Given the description of an element on the screen output the (x, y) to click on. 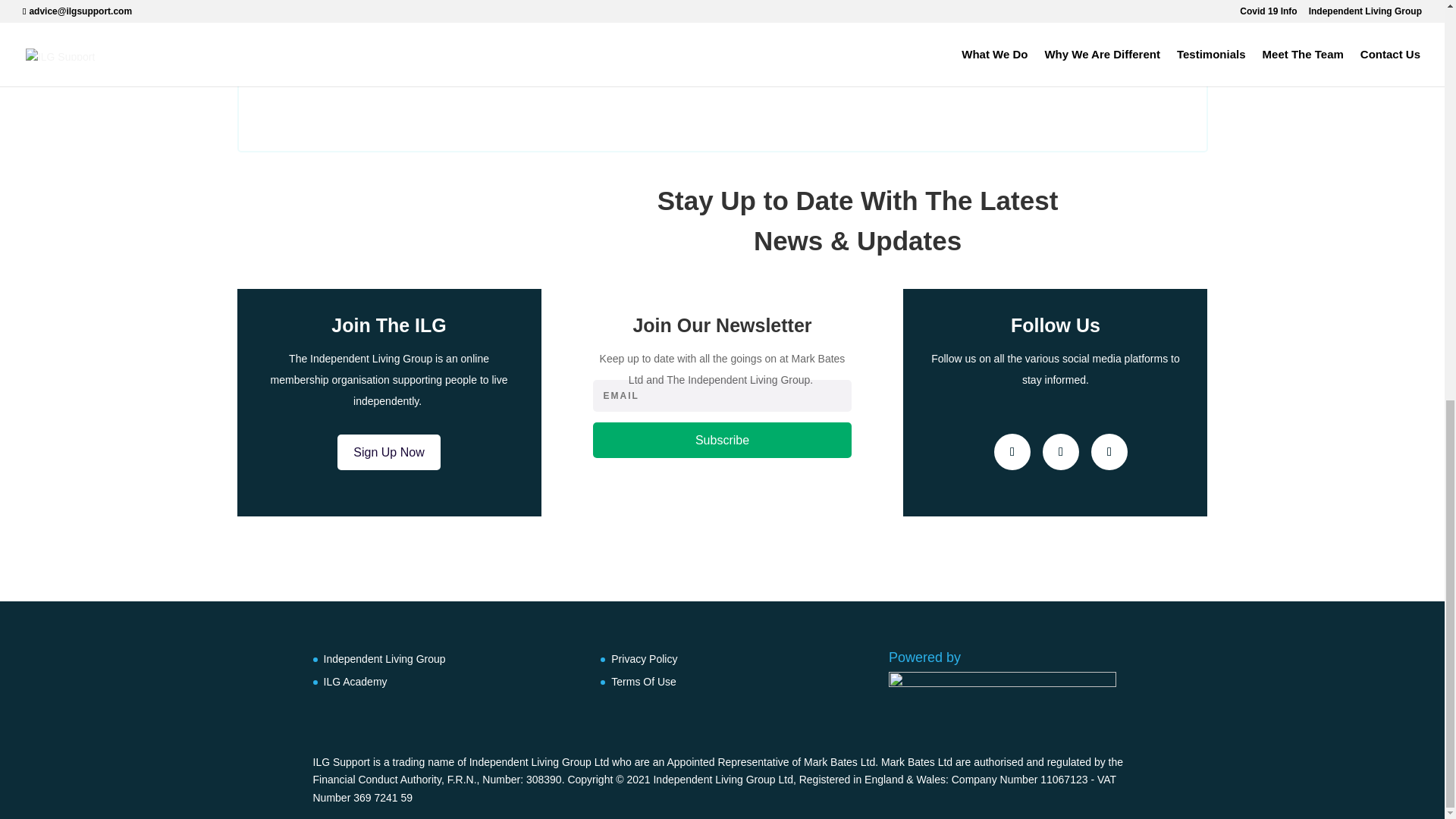
Subscribe (721, 439)
Follow on Facebook (1012, 452)
Terms Of Use (644, 681)
ILG Academy (355, 681)
Follow on X (1060, 452)
Powered by (1002, 681)
Follow on Youtube (1108, 452)
Privacy Policy (644, 658)
Independent Living Group (384, 658)
Sign Up Now (388, 452)
